Given the description of an element on the screen output the (x, y) to click on. 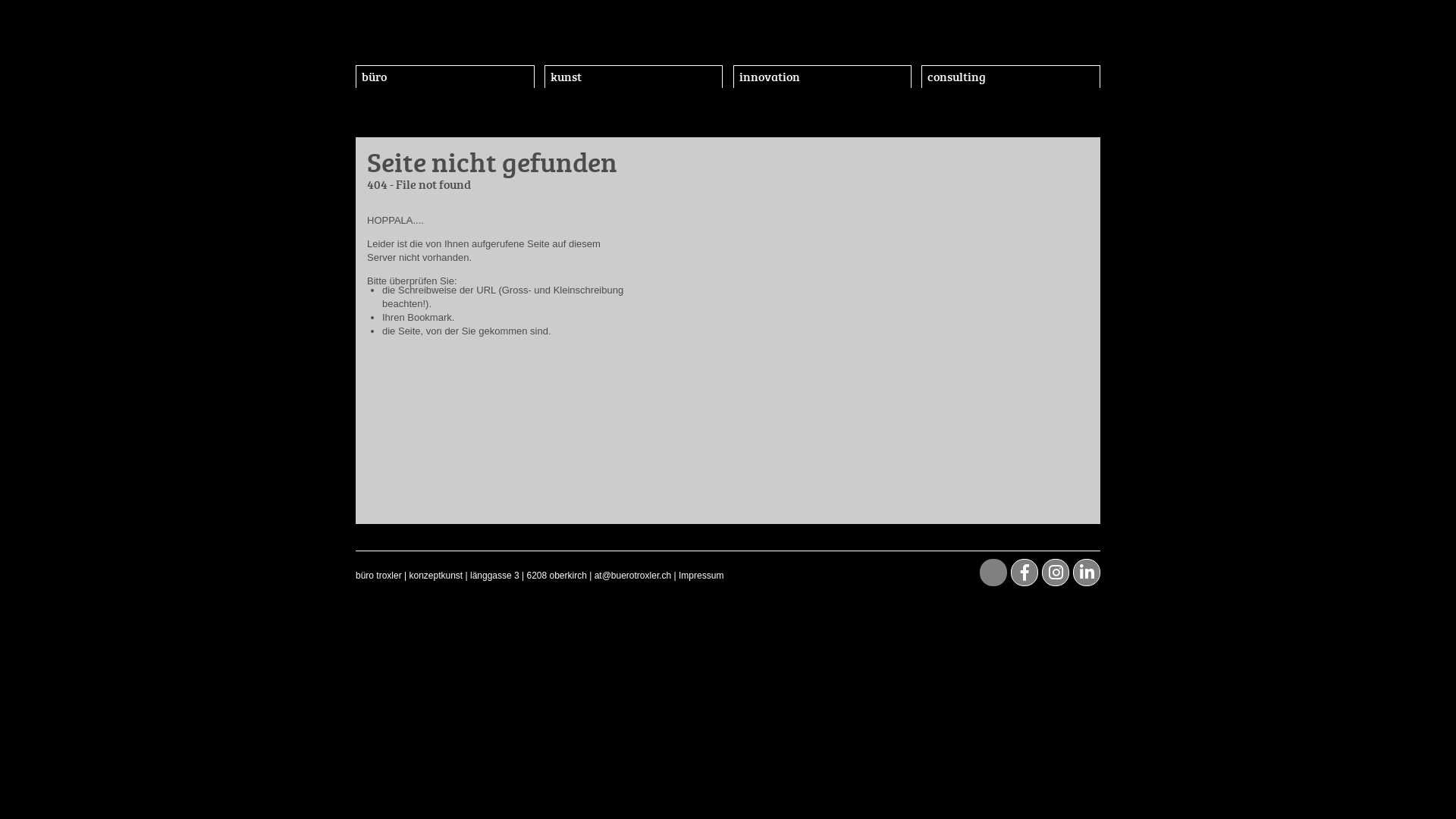
at@buerotroxler.ch Element type: text (632, 575)
innovation Element type: text (821, 76)
kunst Element type: text (633, 76)
Impressum Element type: text (700, 575)
consulting Element type: text (1010, 76)
